Given the description of an element on the screen output the (x, y) to click on. 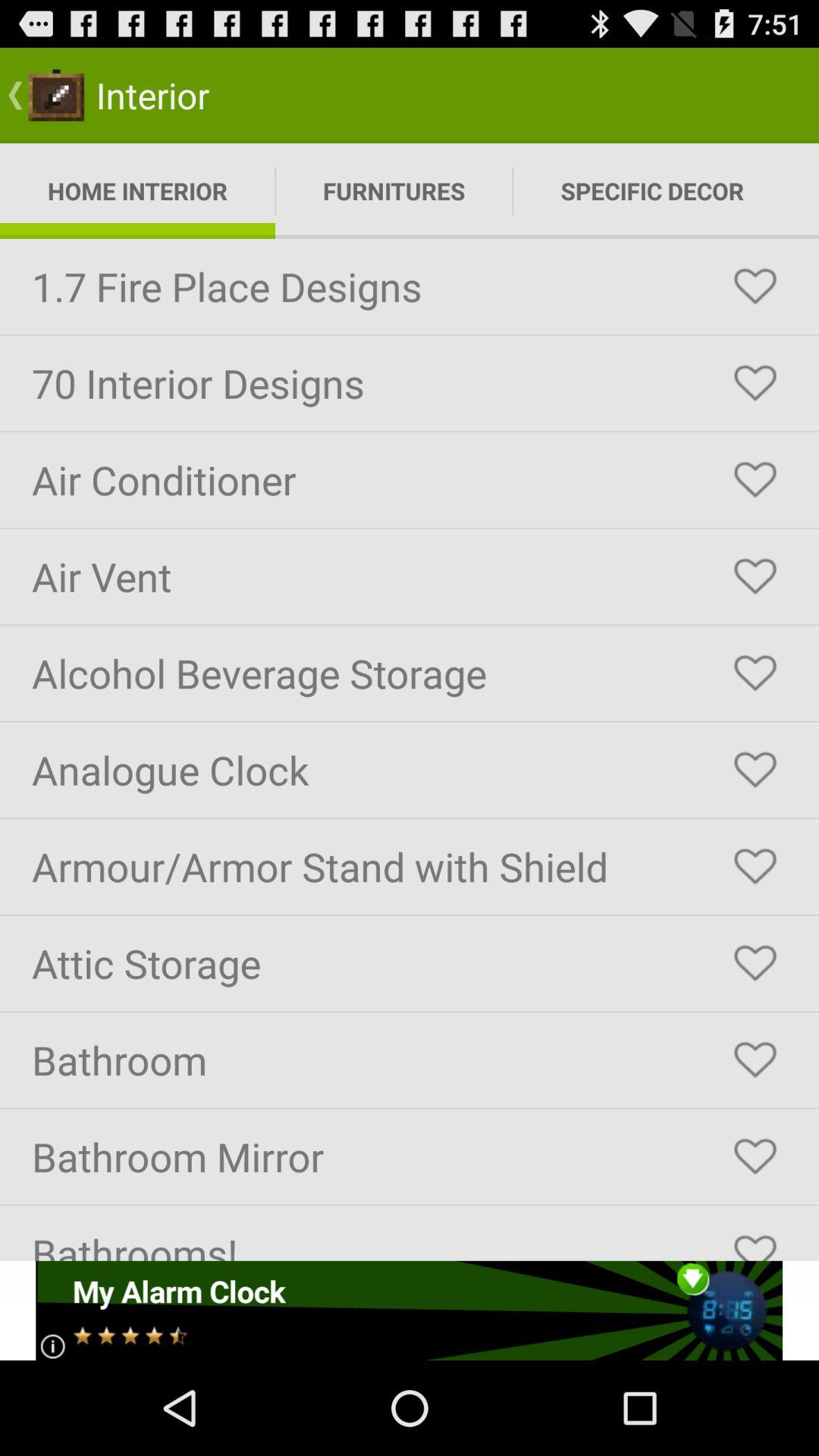
like (755, 383)
